Given the description of an element on the screen output the (x, y) to click on. 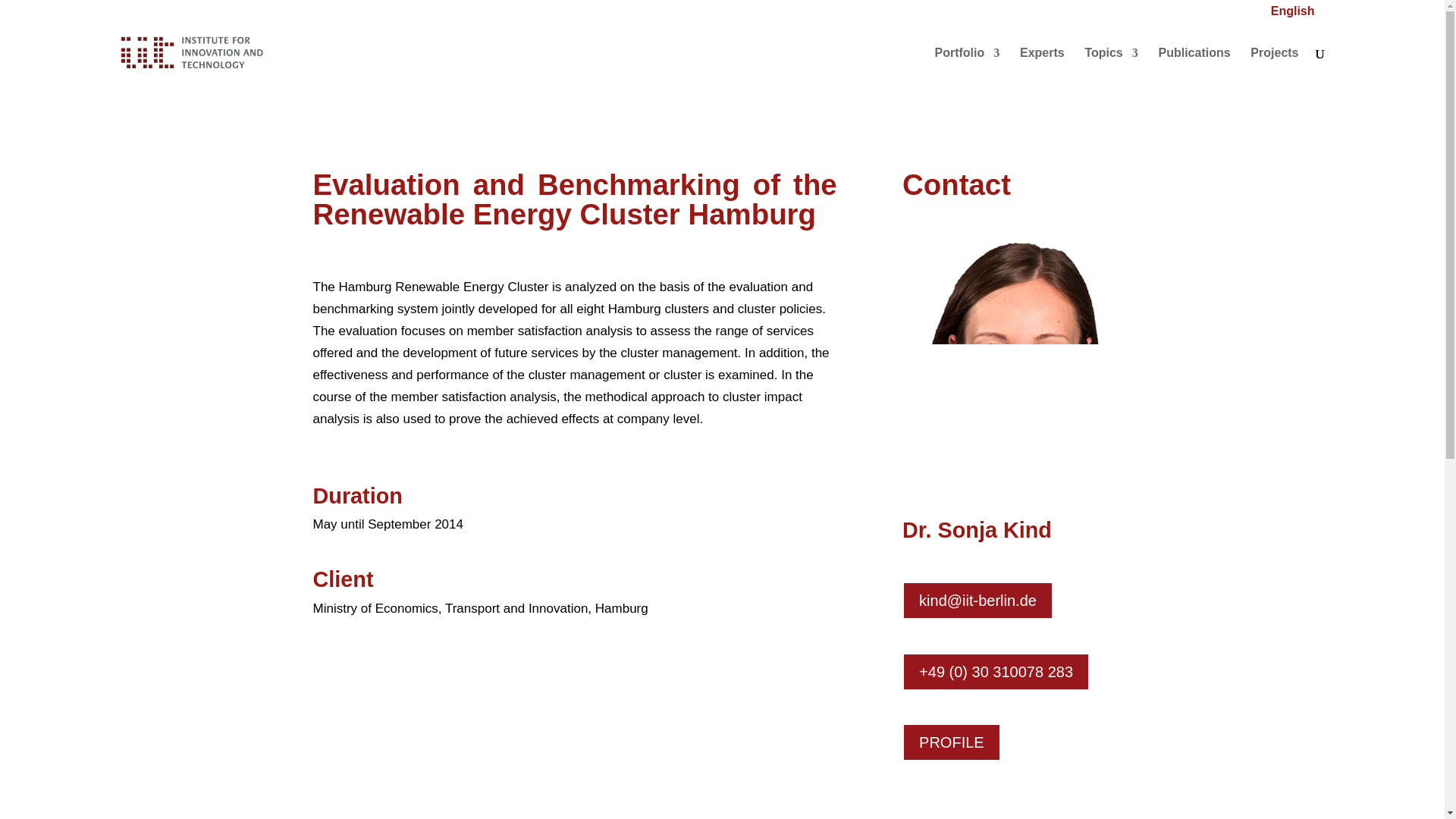
Projects (1274, 65)
English (1292, 15)
PROFILE (951, 742)
Deutsch (1351, 15)
Portfolio (966, 65)
Publications (1194, 65)
Topics (1110, 65)
Experts (1042, 65)
